Given the description of an element on the screen output the (x, y) to click on. 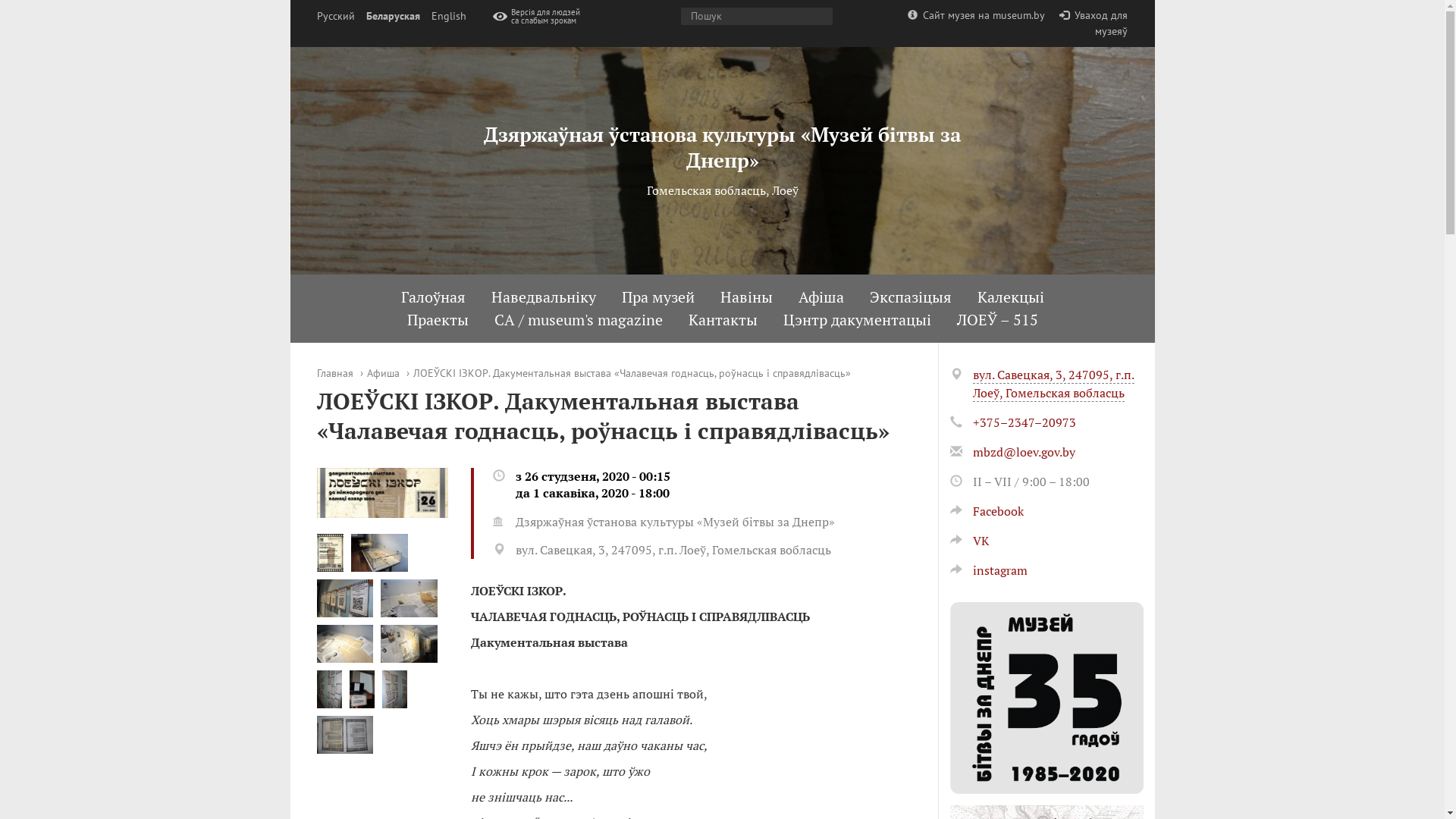
VK Element type: text (968, 540)
English Element type: text (447, 16)
Facebook Element type: text (985, 510)
instagram Element type: text (987, 569)
mbzd@loev.gov.by Element type: text (1023, 451)
